Given the description of an element on the screen output the (x, y) to click on. 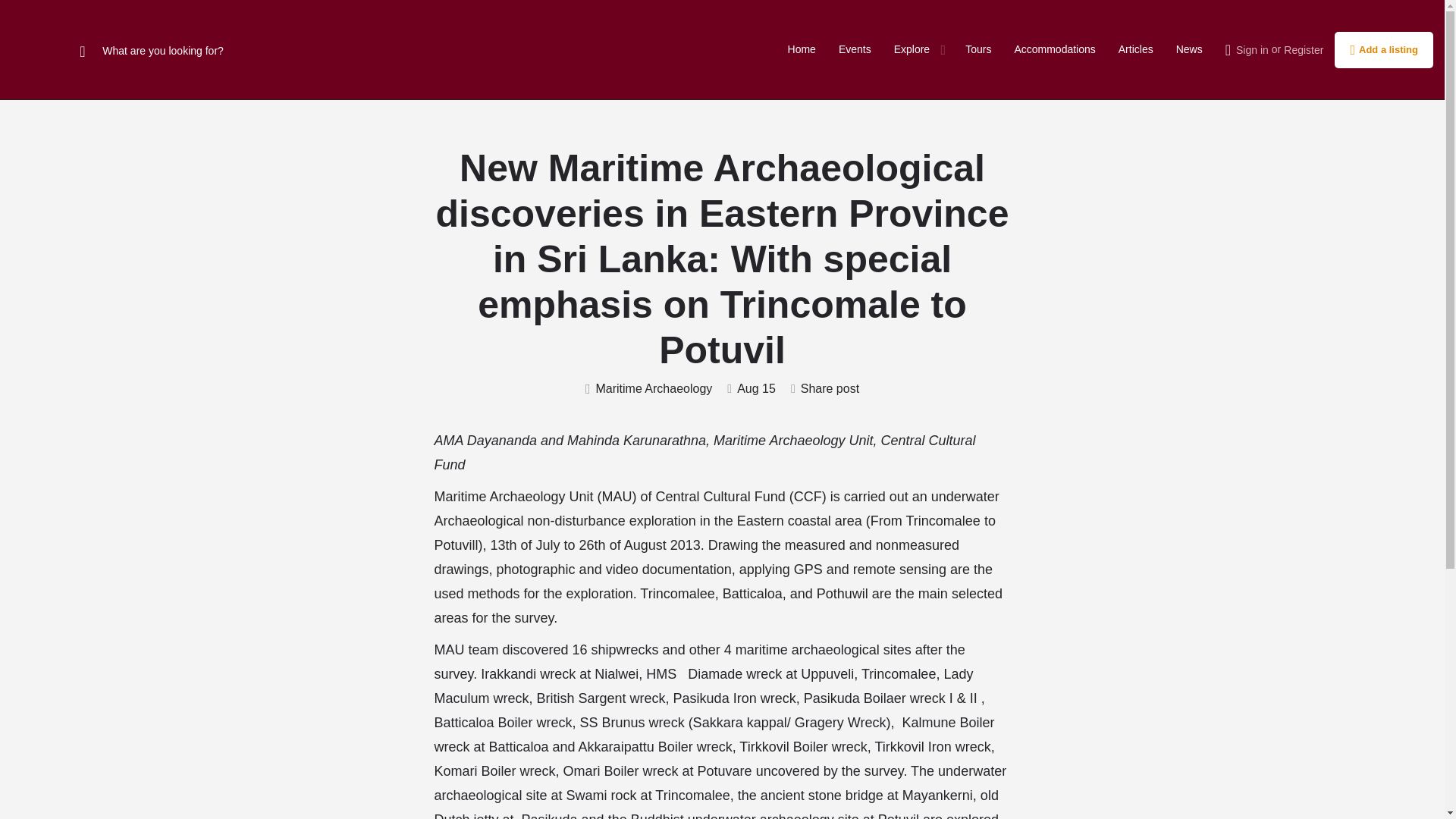
Add a listing (1383, 49)
Articles (1135, 49)
Maritime Archaeology (648, 389)
Accommodations (1053, 49)
Sign in (1252, 49)
Explore (911, 49)
Tours (978, 49)
Share post (824, 389)
Events (854, 49)
Home (801, 49)
